Given the description of an element on the screen output the (x, y) to click on. 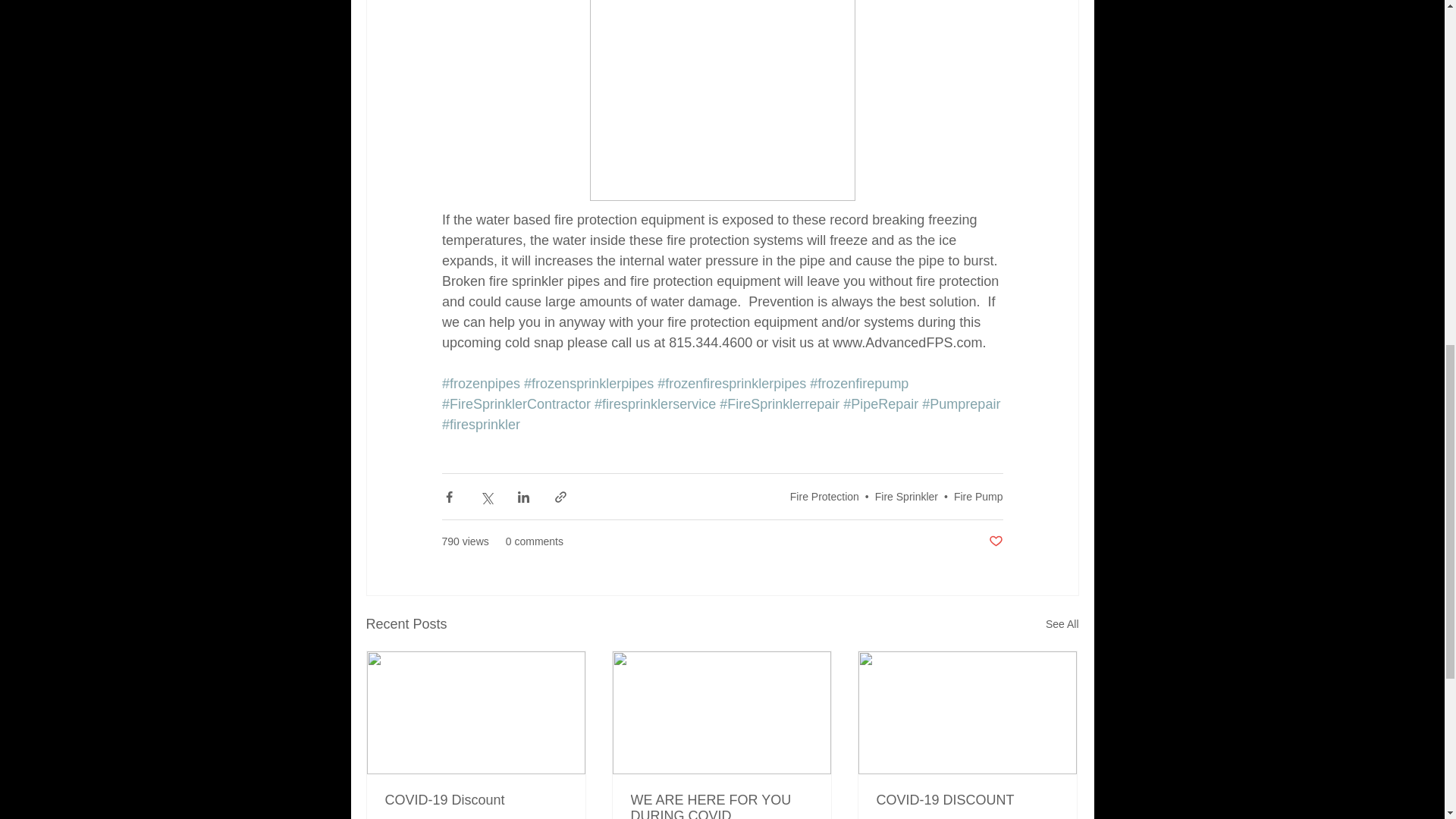
Post not marked as liked (995, 541)
Fire Sprinkler (906, 496)
See All (1061, 624)
COVID-19 Discount (476, 800)
Fire Pump (978, 496)
Fire Protection (824, 496)
